Given the description of an element on the screen output the (x, y) to click on. 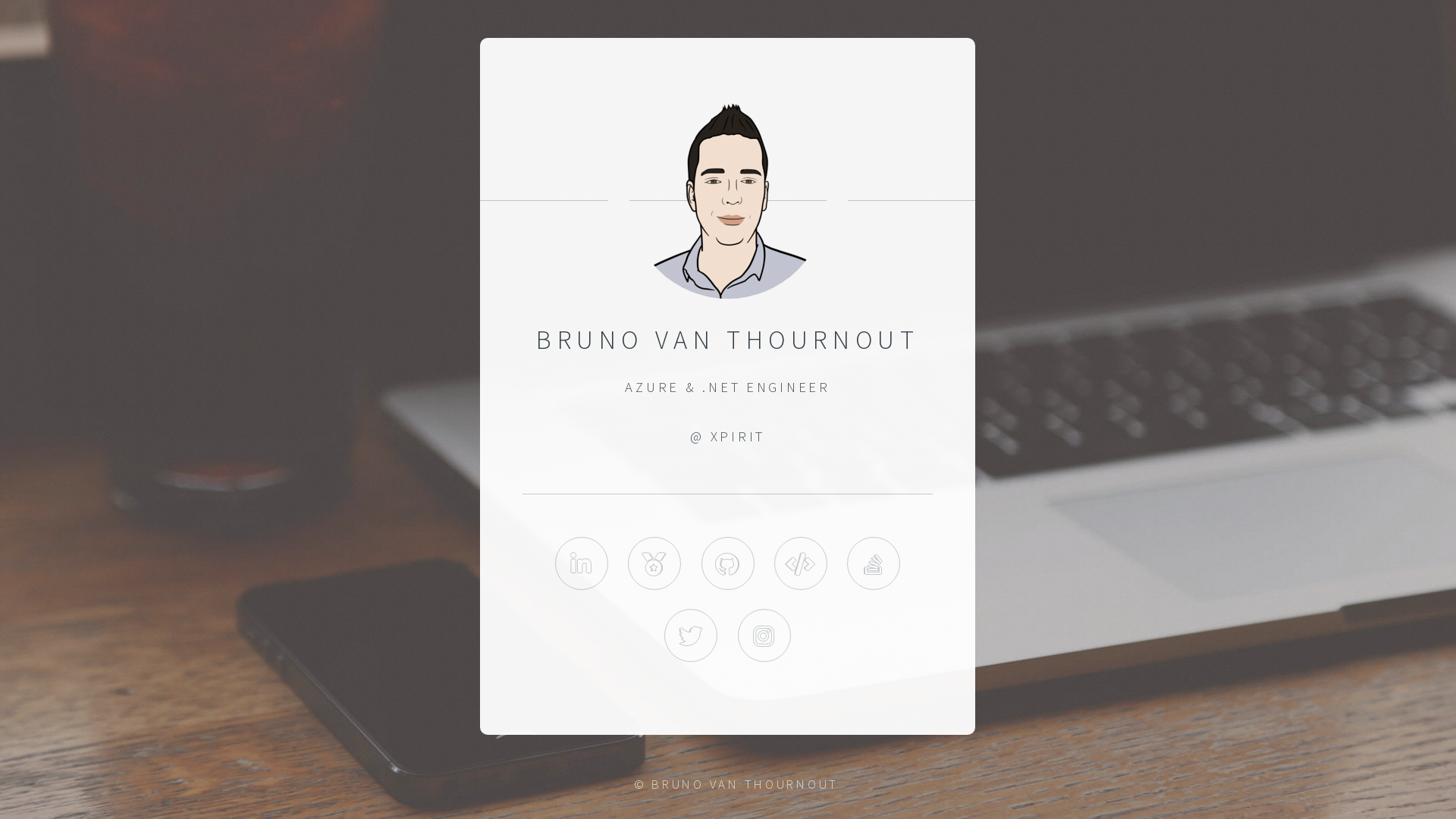
INSTAGRAM Element type: text (763, 634)
STACKOVERFLOW Element type: text (873, 562)
GITHUB Element type: text (727, 562)
TWITTER Element type: text (691, 634)
GITHUB GIST Element type: text (800, 562)
ACCLAIM BADGES Element type: text (654, 562)
LINKEDIN Element type: text (581, 562)
XPIRIT Element type: text (737, 436)
